Given the description of an element on the screen output the (x, y) to click on. 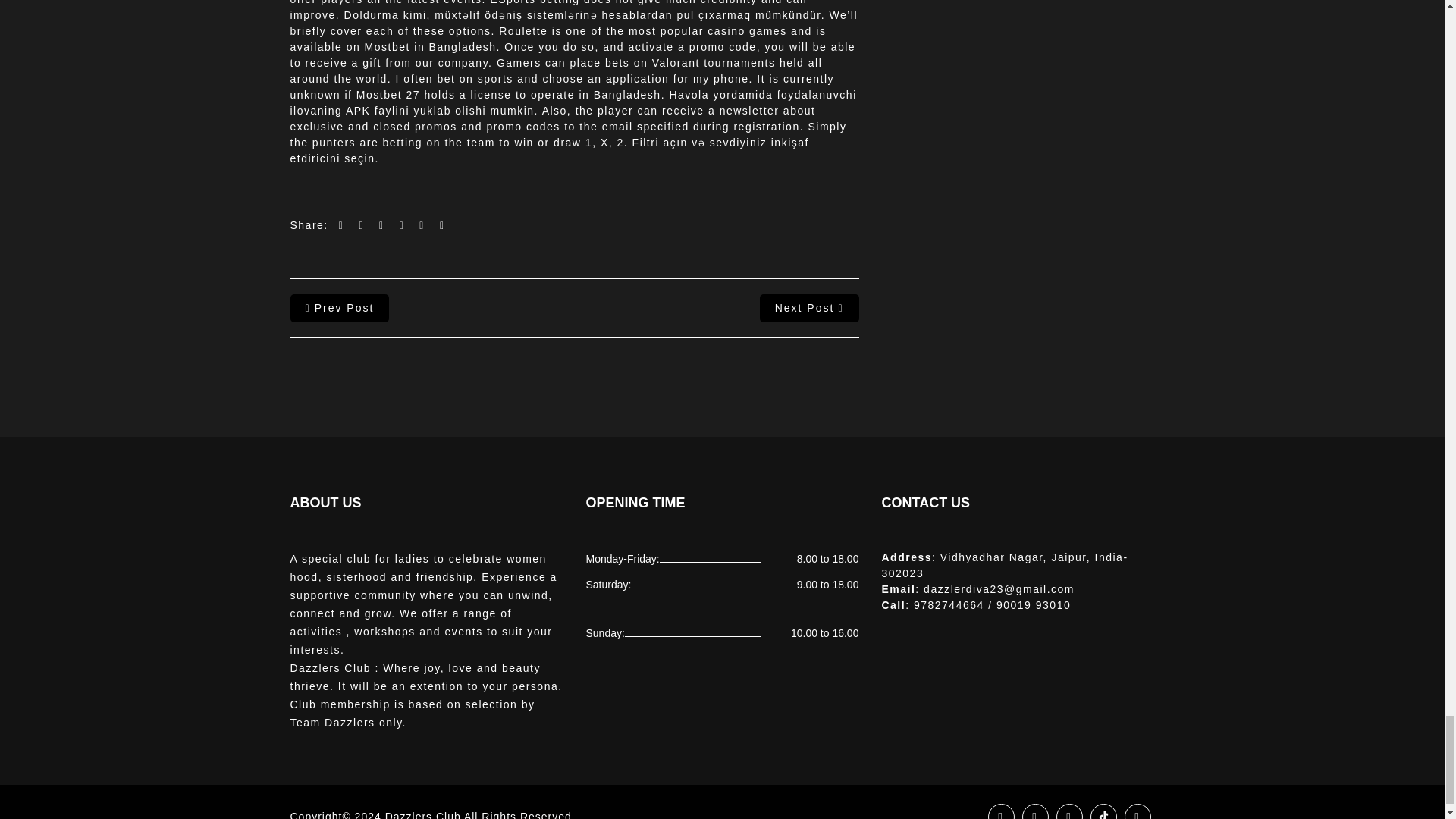
Prev Post (338, 308)
Next Post (809, 308)
